Given the description of an element on the screen output the (x, y) to click on. 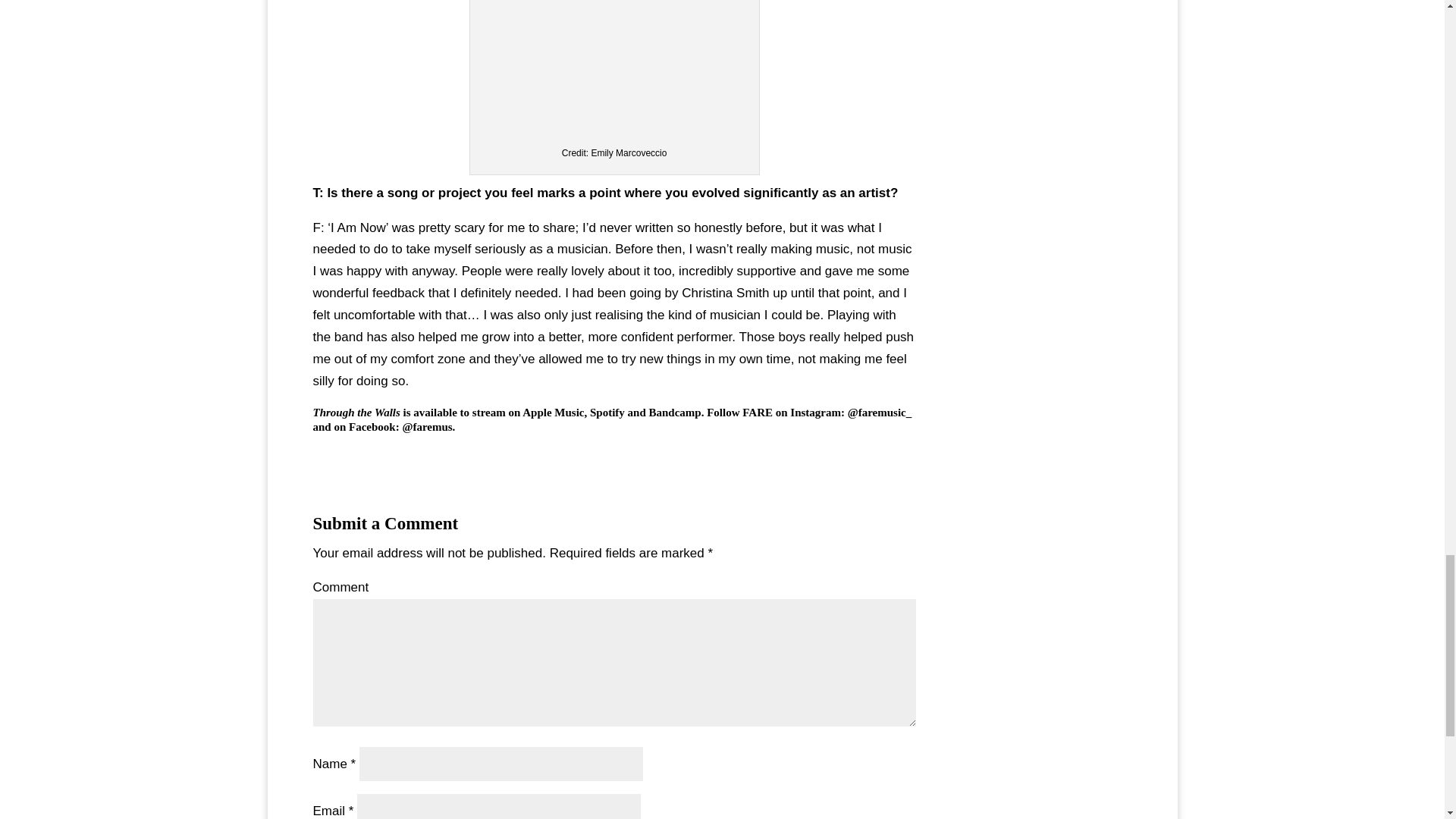
Bandcamp (675, 412)
Apple Music (552, 412)
Spotify (606, 412)
